Given the description of an element on the screen output the (x, y) to click on. 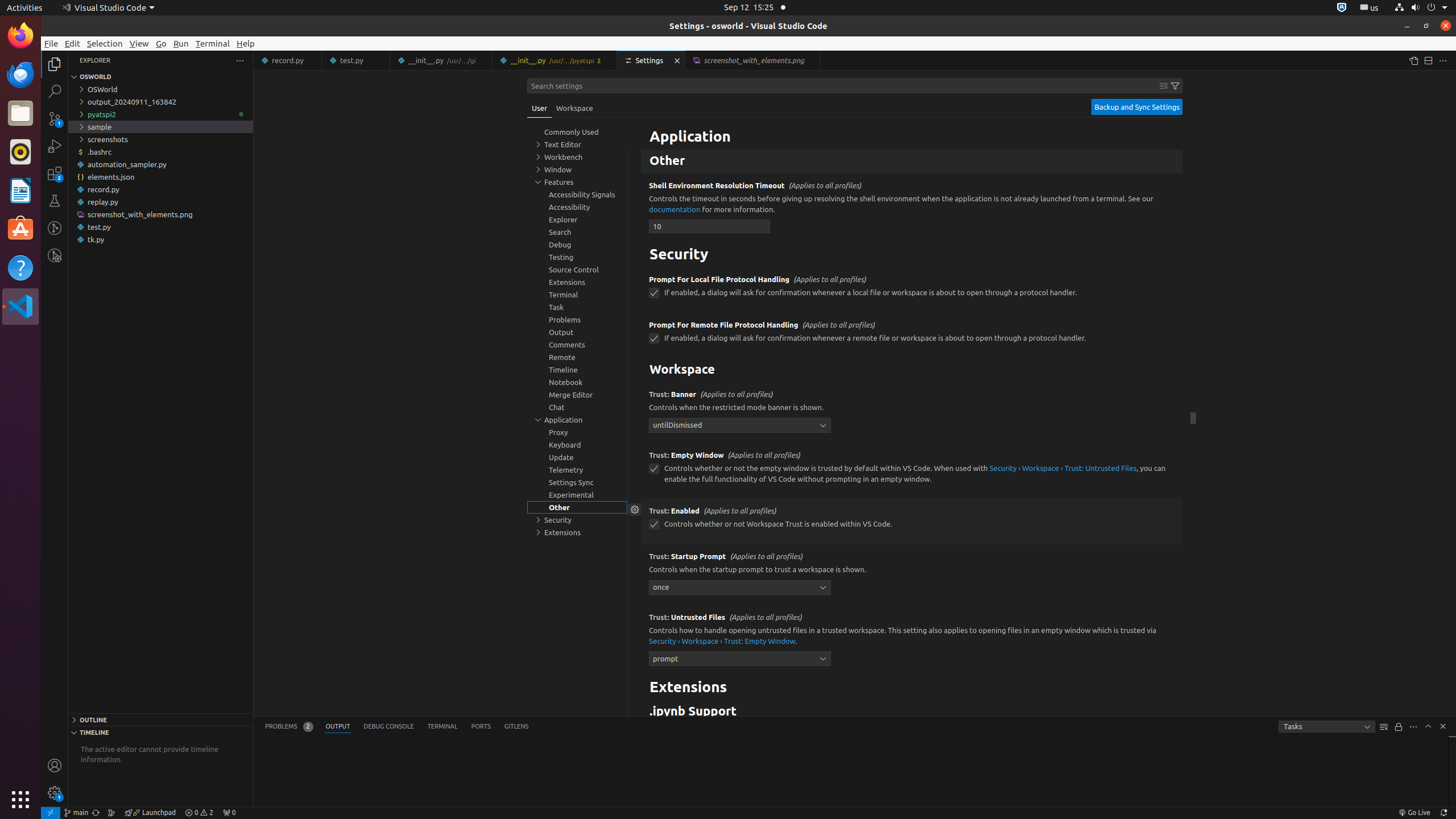
Edit Element type: push-button (72, 43)
screenshots Element type: tree-item (160, 139)
Firefox Web Browser Element type: push-button (20, 35)
Trust Enabled. Setting value retained when switching profiles. Controls whether or not Workspace Trust is enabled within VS Code.  Element type: tree-item (911, 521)
